Given the description of an element on the screen output the (x, y) to click on. 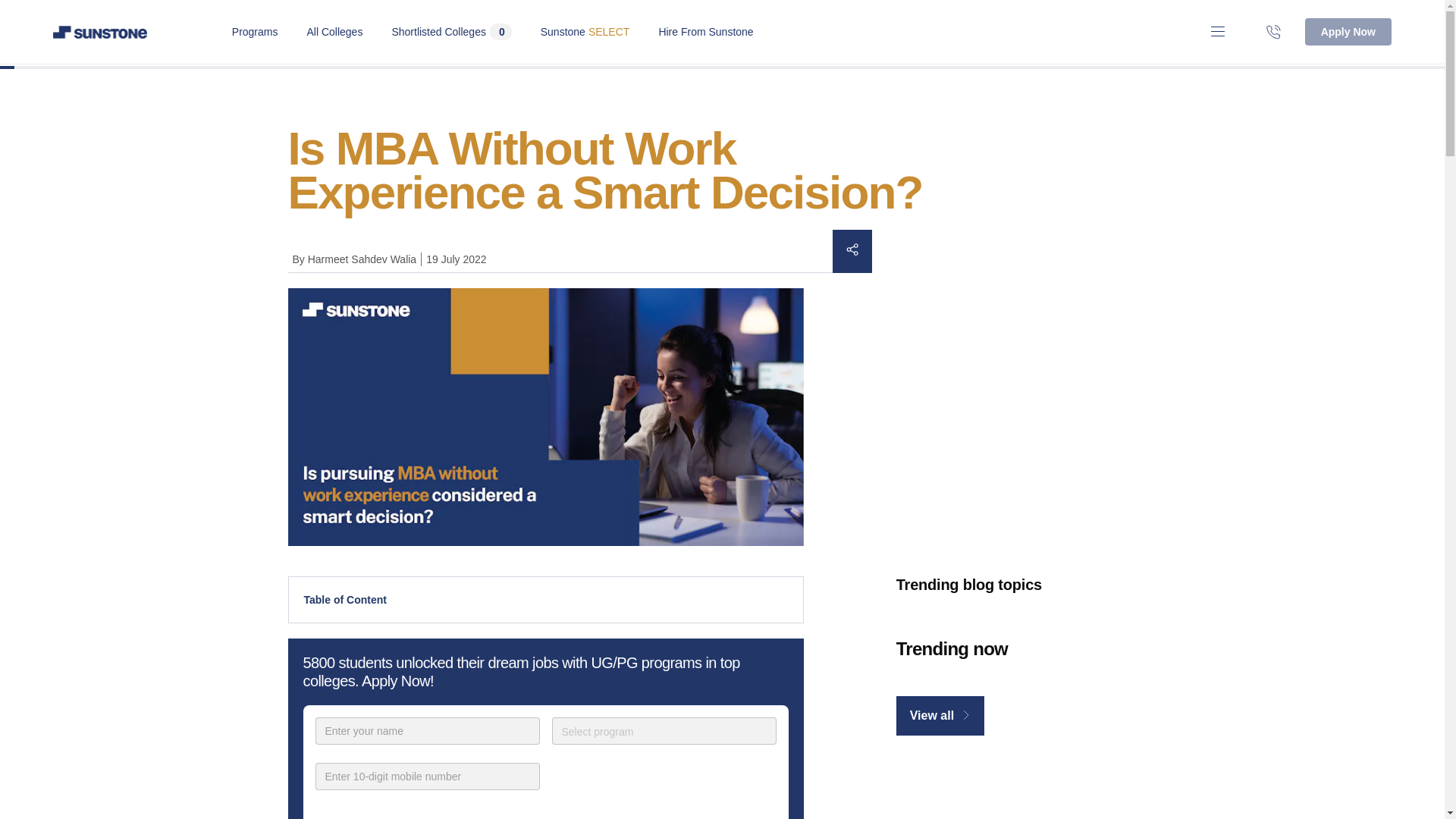
View all (940, 715)
All Colleges (585, 31)
Hire From Sunstone (333, 31)
program (705, 31)
Apply Now (663, 730)
Programs (451, 31)
View all (1347, 31)
